Given the description of an element on the screen output the (x, y) to click on. 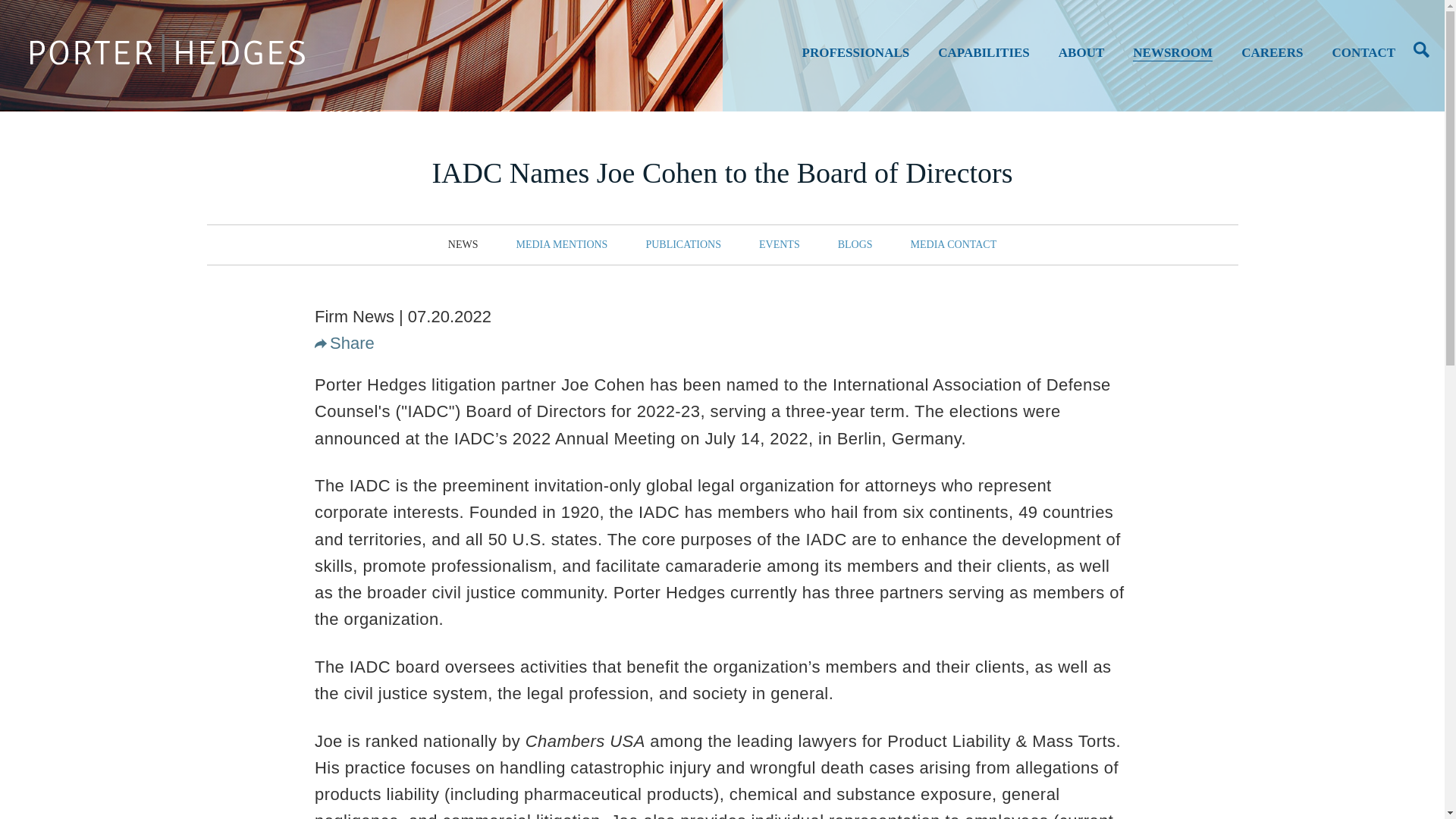
PROFESSIONALS (856, 58)
CAPABILITIES (983, 58)
Share (352, 342)
